Given the description of an element on the screen output the (x, y) to click on. 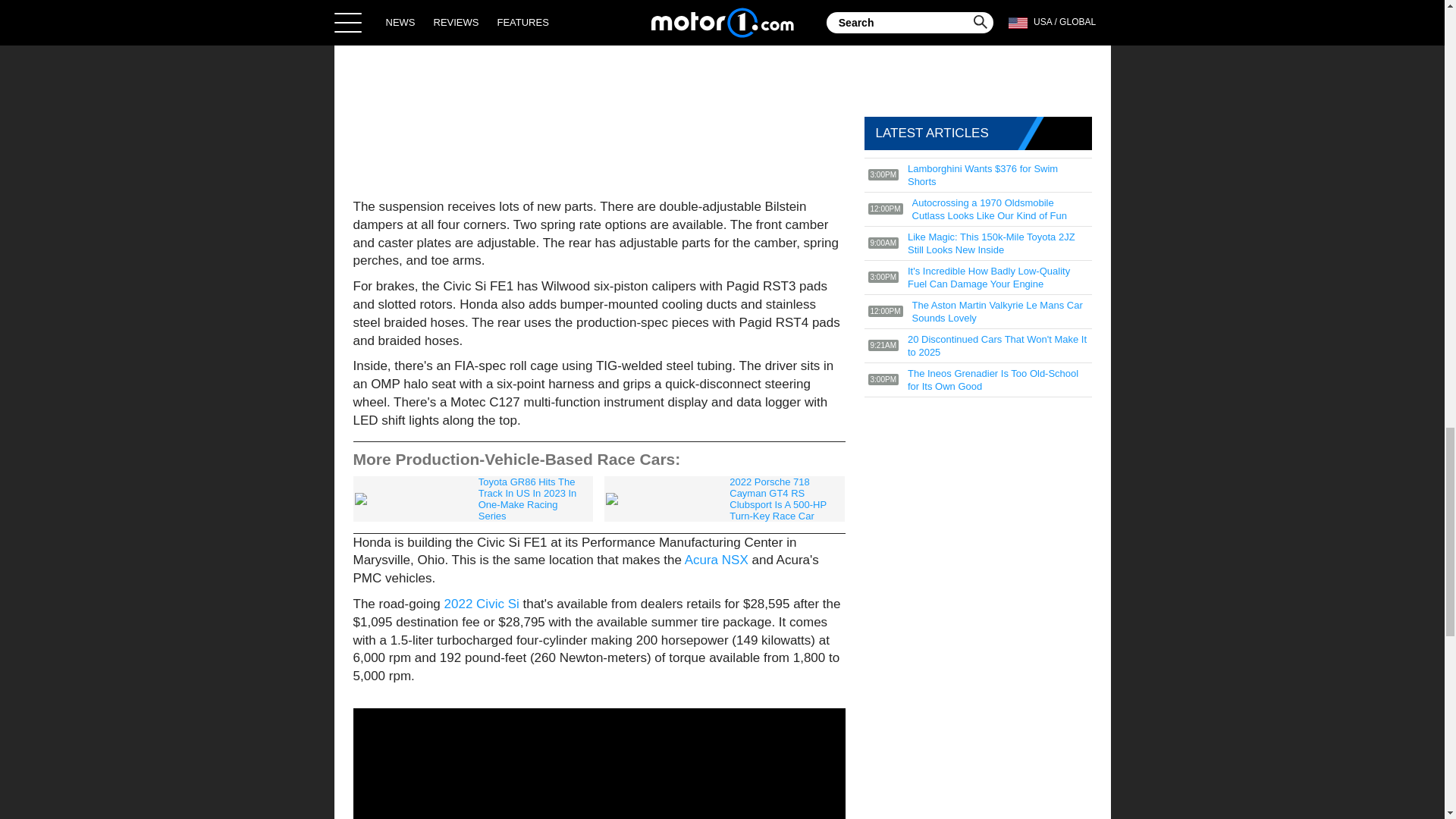
YouTube video player (599, 763)
2022 Civic Si (481, 603)
Acura NSX (716, 559)
